Given the description of an element on the screen output the (x, y) to click on. 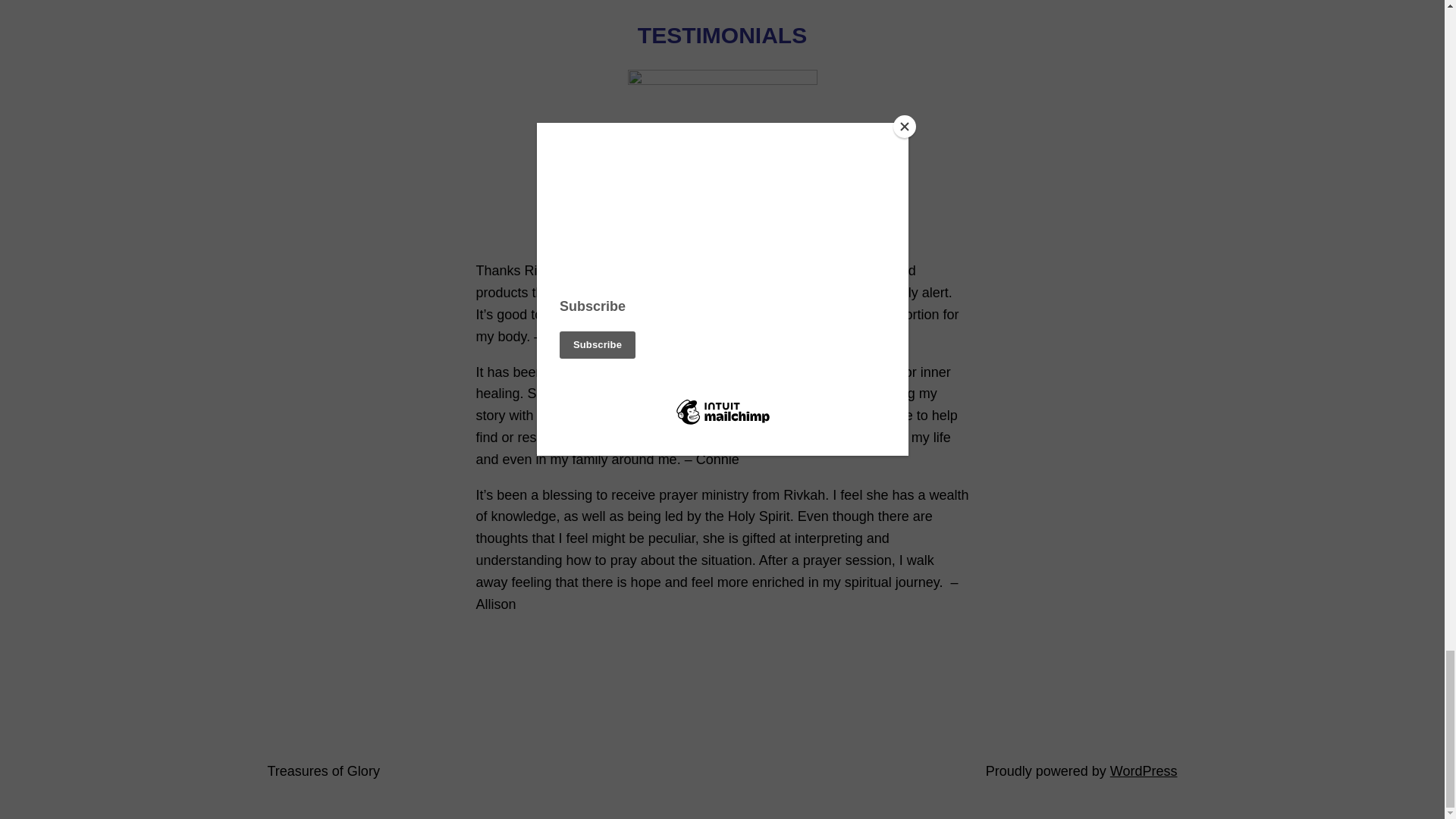
WordPress (1143, 770)
Treasures of Glory (322, 770)
